Given the description of an element on the screen output the (x, y) to click on. 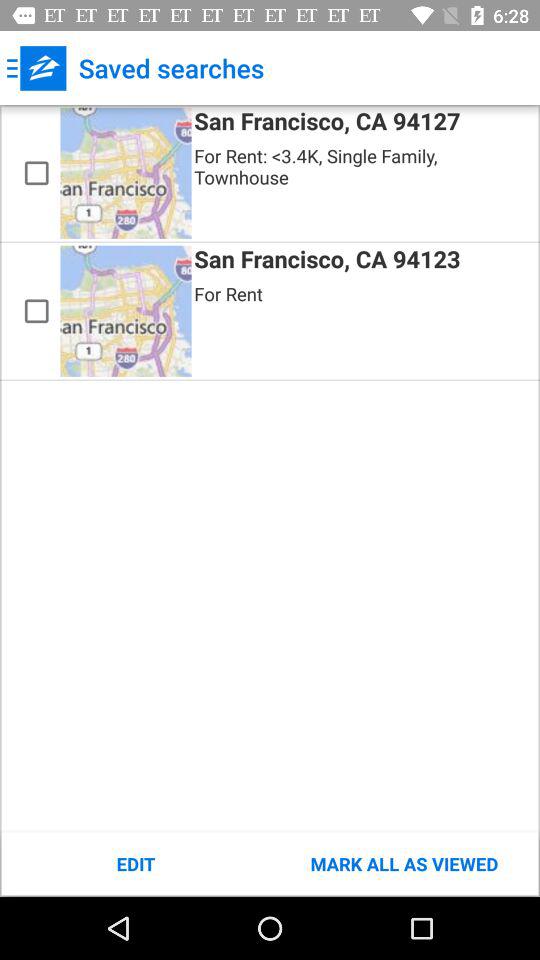
toggle selection of saved search result (36, 311)
